Given the description of an element on the screen output the (x, y) to click on. 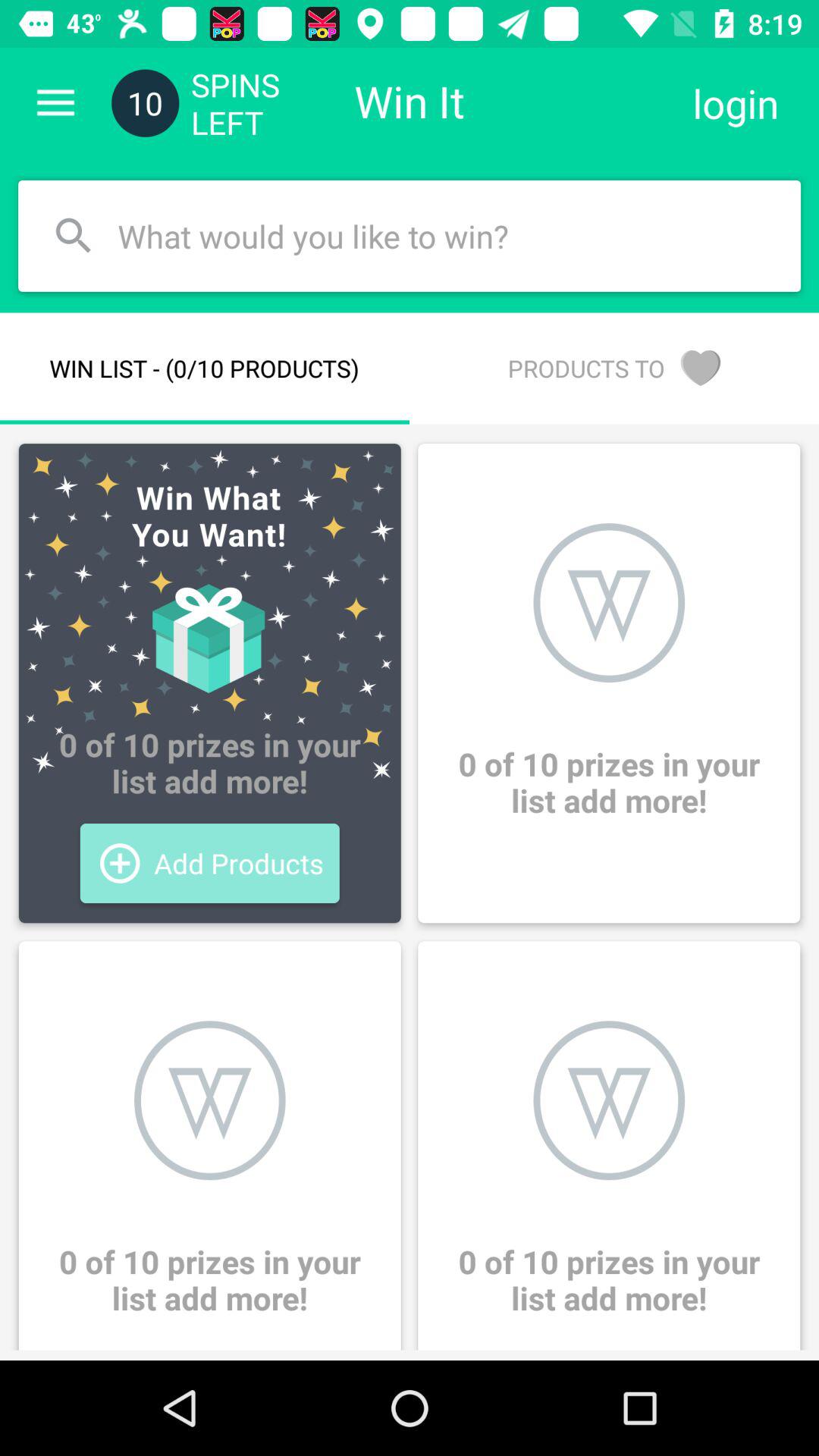
scroll until login icon (735, 102)
